Given the description of an element on the screen output the (x, y) to click on. 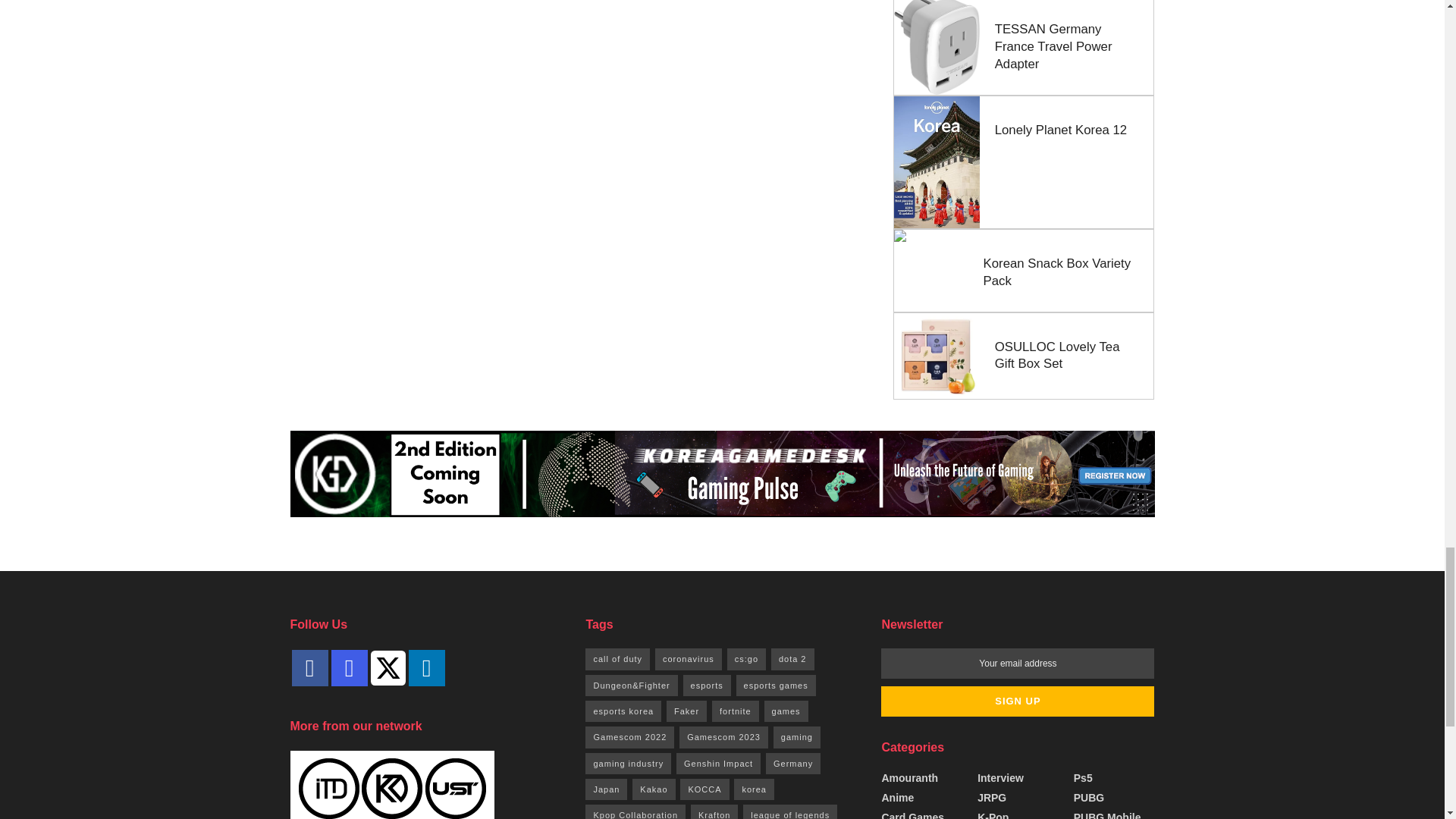
twitter (386, 667)
facebook (309, 668)
twitter (387, 666)
instagram (348, 668)
Sign up (1017, 701)
linkedin (425, 668)
